Given the description of an element on the screen output the (x, y) to click on. 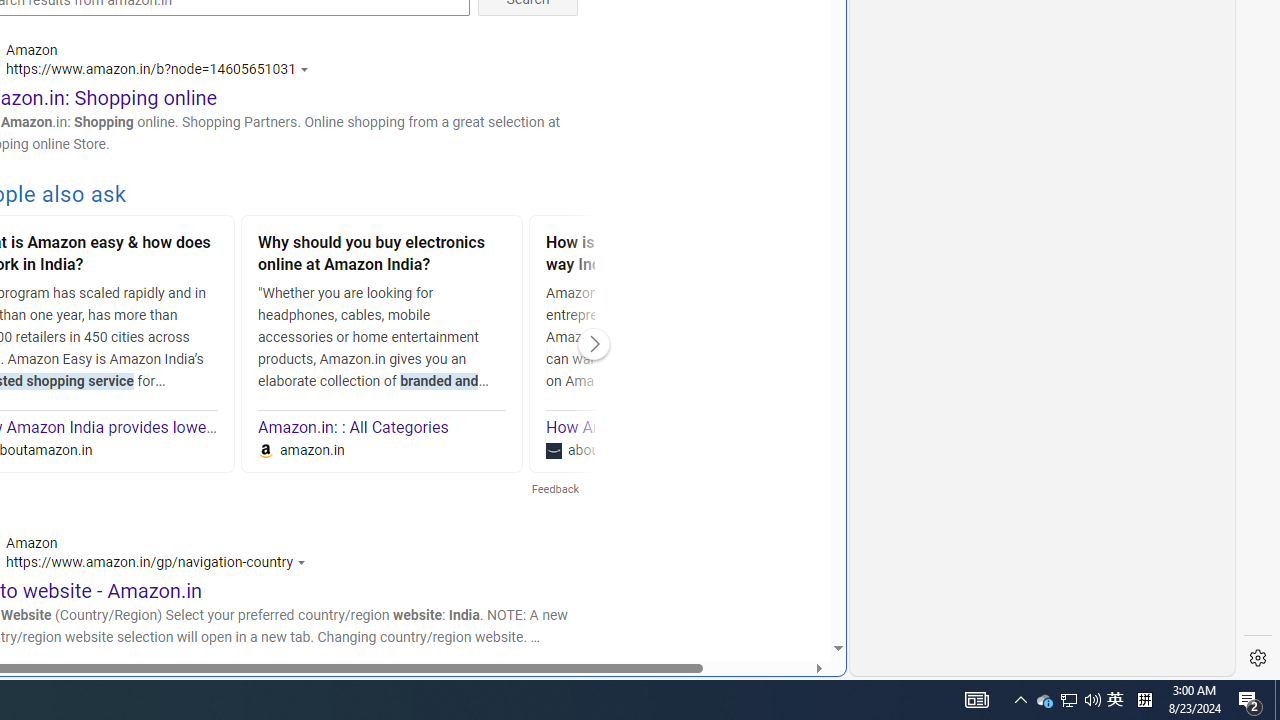
Amazon.in: : All Categories (353, 427)
Why should you buy electronics online at Amazon India? (381, 255)
Click to scroll right (594, 344)
Actions for this site (305, 562)
How is Amazon easy changing the way India buys? (669, 255)
AutomationID: mfa_root (762, 588)
Search more (792, 588)
